Given the description of an element on the screen output the (x, y) to click on. 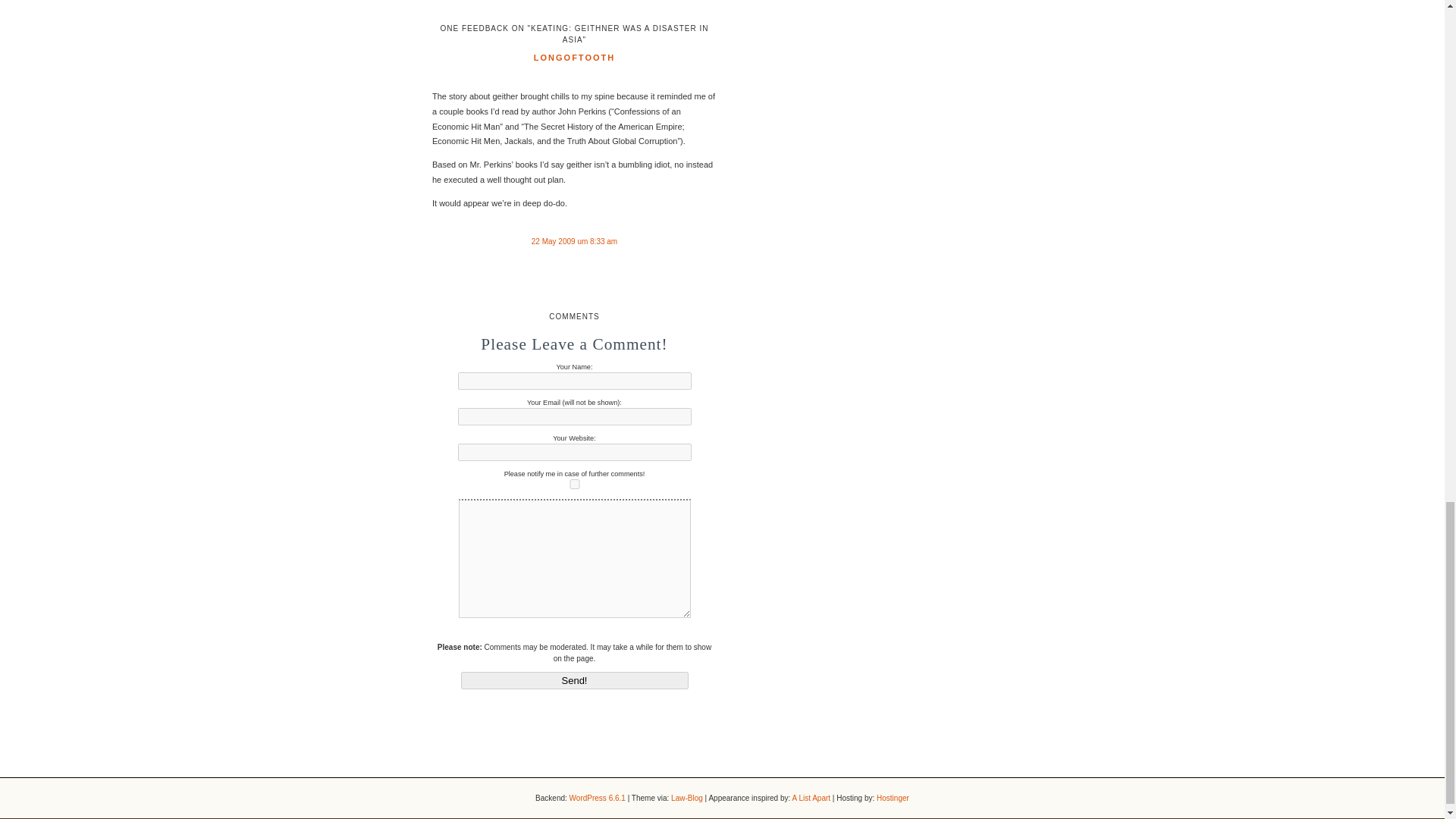
22 May 2009 um 8:33 am (574, 241)
Send! (574, 680)
Hostinger (892, 797)
WordPress 6.6.1 (597, 797)
Send! (574, 680)
A List Apart (810, 797)
Law-Blog (687, 797)
subscribe (574, 483)
